Given the description of an element on the screen output the (x, y) to click on. 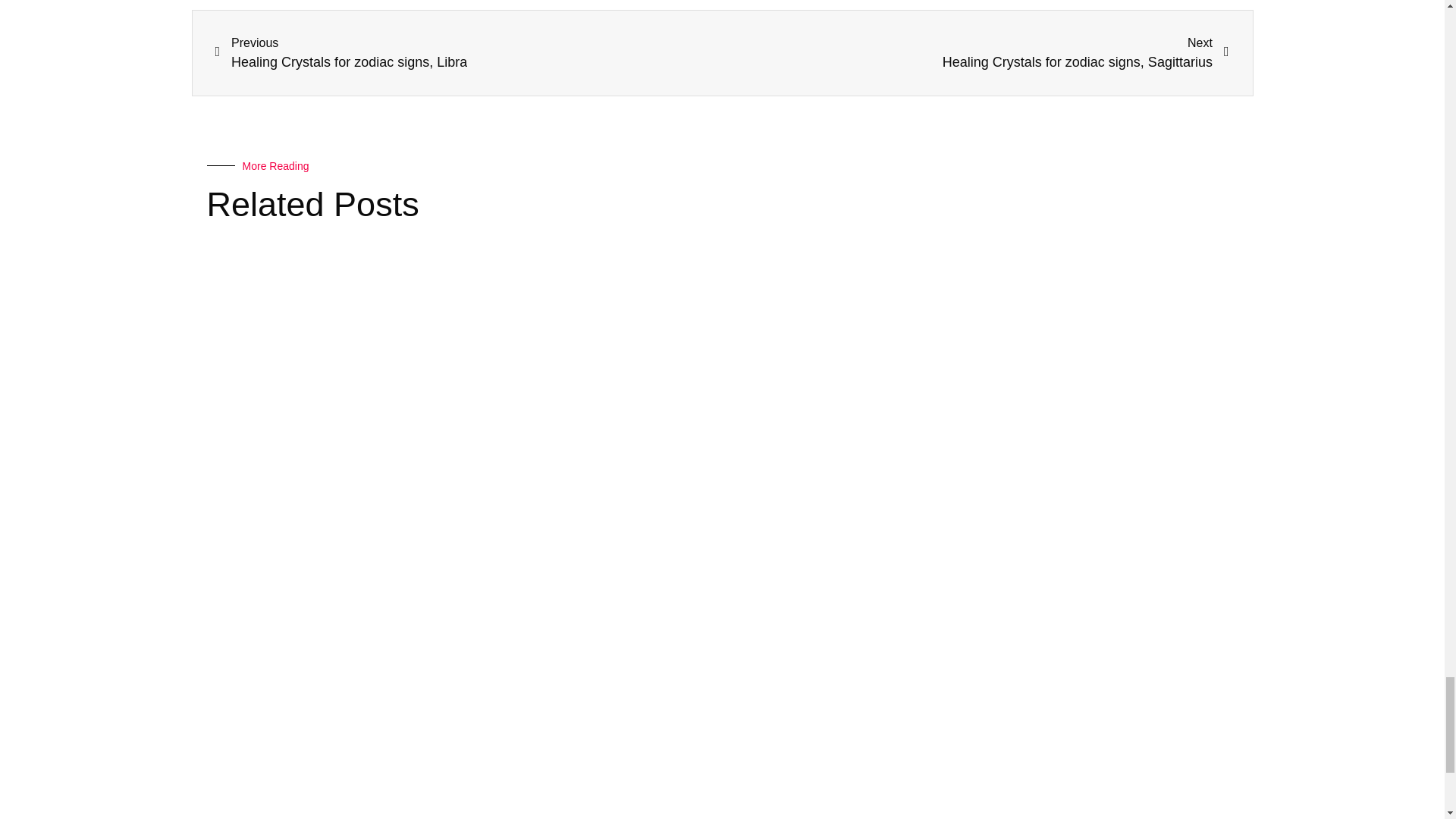
Law of attraction and money (291, 817)
